Given the description of an element on the screen output the (x, y) to click on. 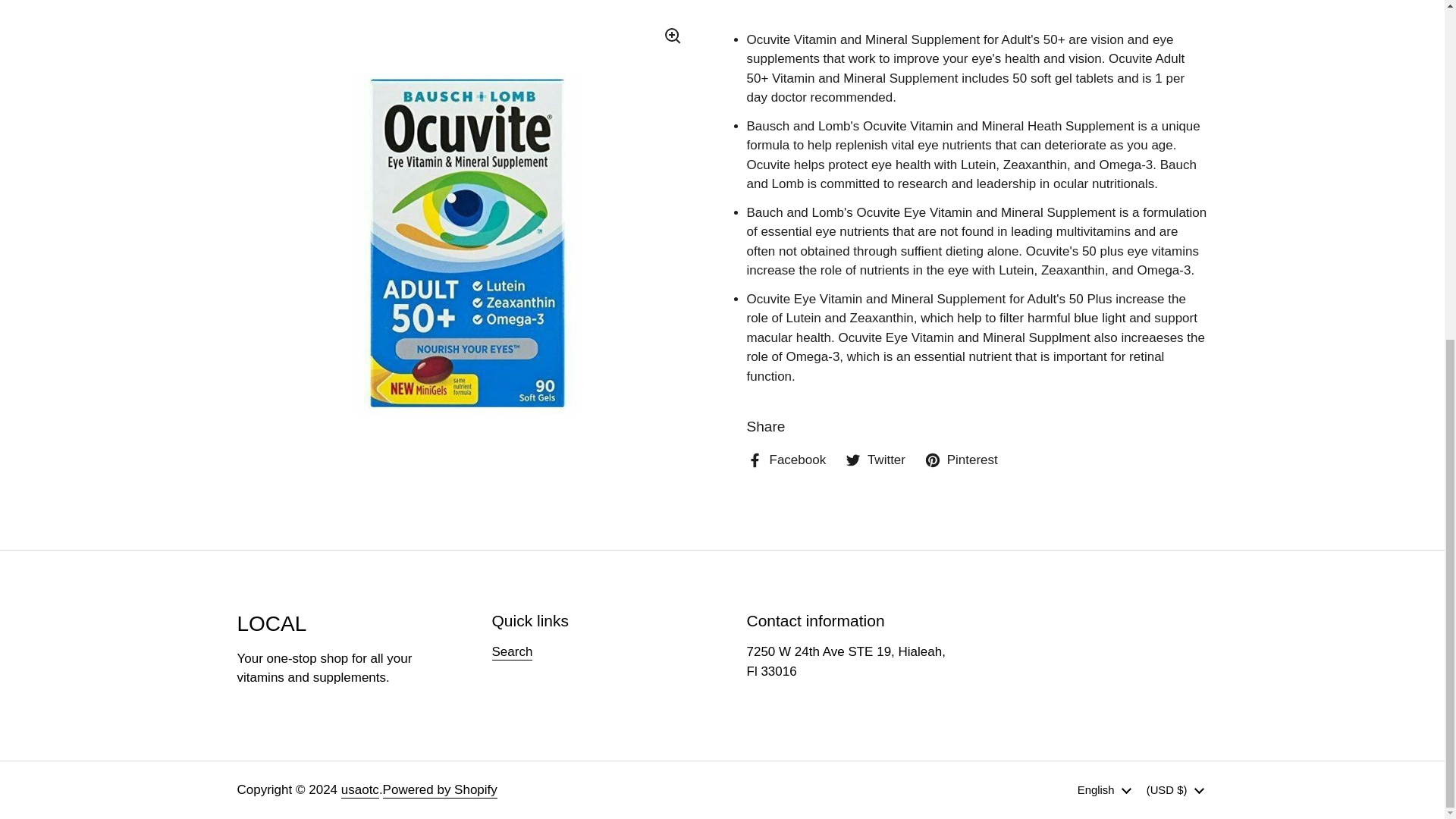
Facebook (785, 460)
Twitter (874, 460)
Share on facebook (785, 460)
Share on twitter (874, 460)
Share on pinterest (960, 460)
